Given the description of an element on the screen output the (x, y) to click on. 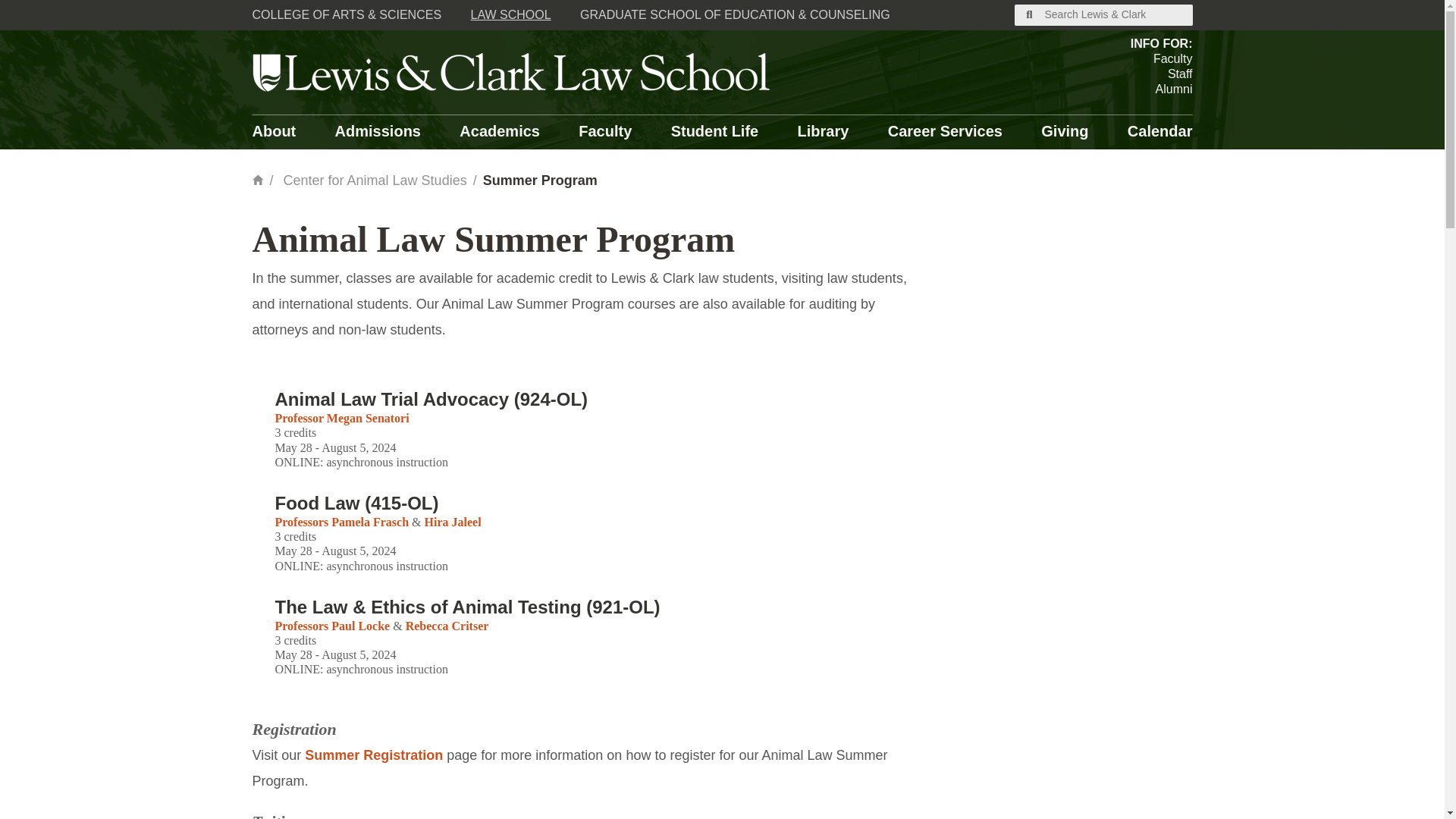
Calendar (1159, 132)
Academics (500, 132)
Rebecca Critser (447, 625)
Professors Paul Locke (332, 625)
Staff (1161, 73)
About (273, 132)
Submit Search (1029, 14)
Career Services (945, 132)
Giving (1064, 132)
Center for Animal Law Studies (375, 180)
